Given the description of an element on the screen output the (x, y) to click on. 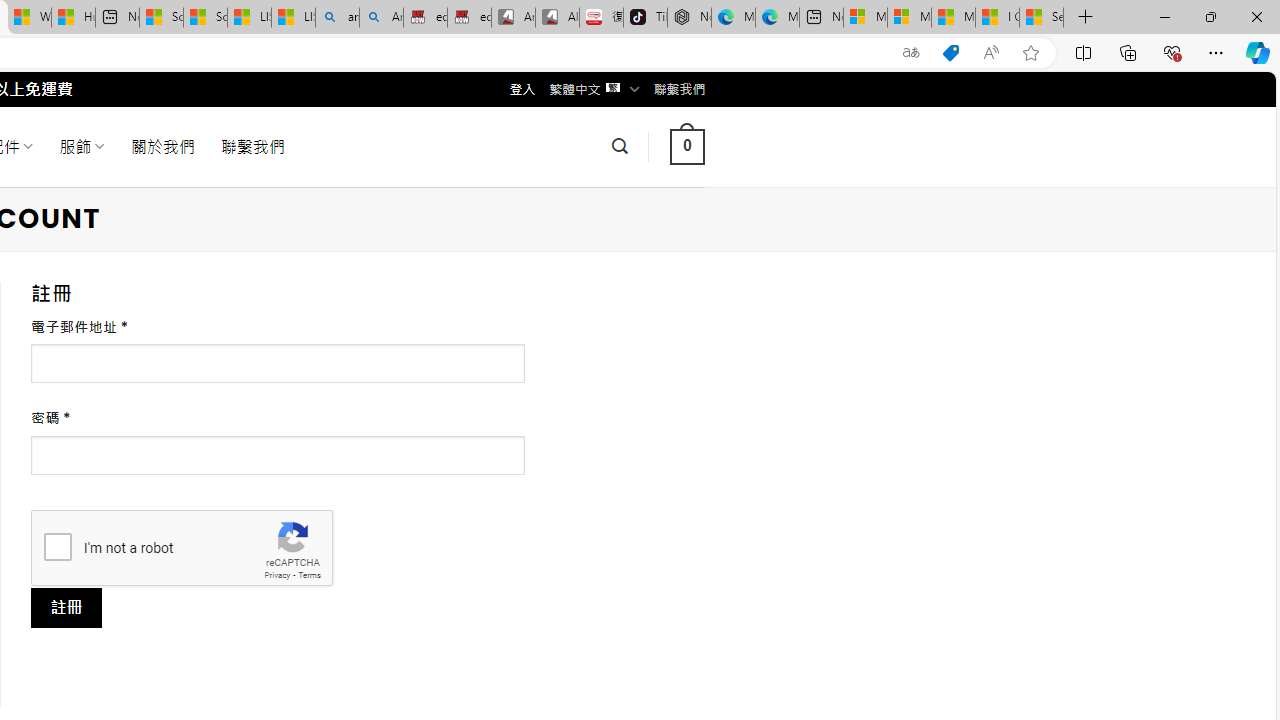
Minimize (1164, 16)
New Tab (1085, 17)
